Given the description of an element on the screen output the (x, y) to click on. 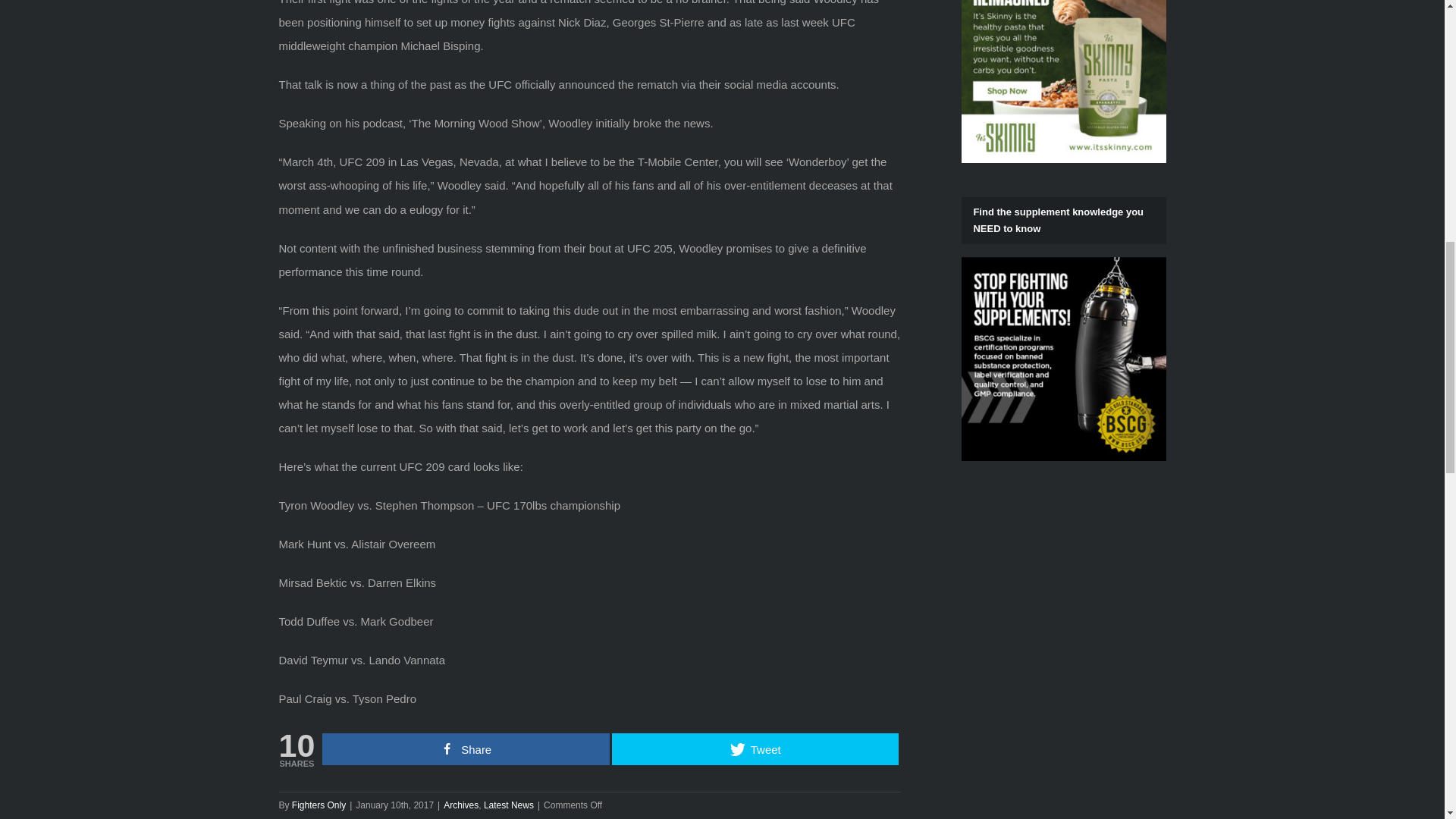
Posts by Fighters Only (319, 805)
Tweet (755, 748)
Share (465, 748)
Archives (461, 805)
Fighters Only (319, 805)
Latest News (508, 805)
